Given the description of an element on the screen output the (x, y) to click on. 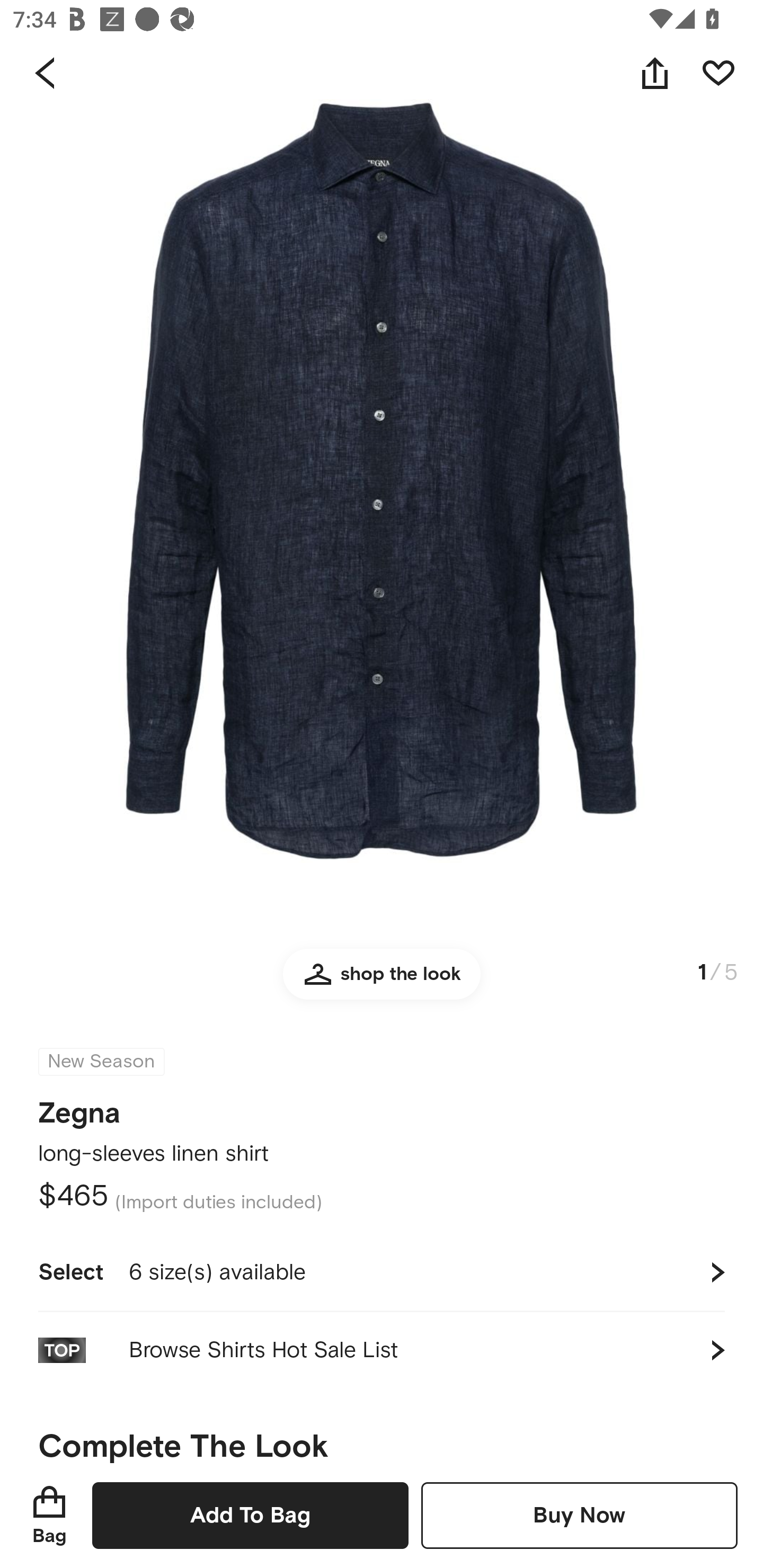
shop the look (381, 982)
Zegna (79, 1107)
Select 6 size(s) available (381, 1272)
Browse Shirts Hot Sale List (381, 1349)
Bag (49, 1515)
Add To Bag (250, 1515)
Buy Now (579, 1515)
